Given the description of an element on the screen output the (x, y) to click on. 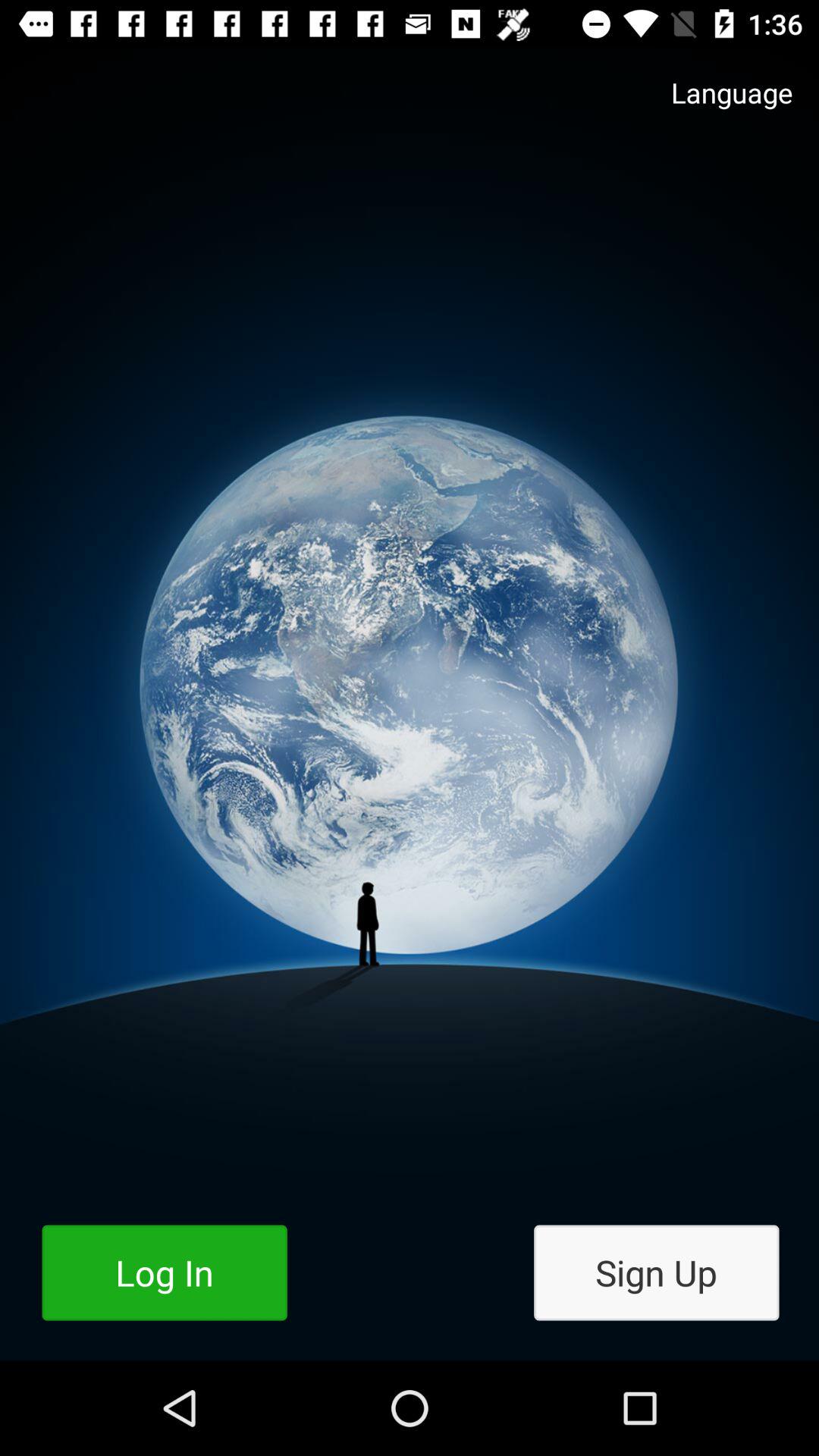
select the item next to log in button (656, 1272)
